Given the description of an element on the screen output the (x, y) to click on. 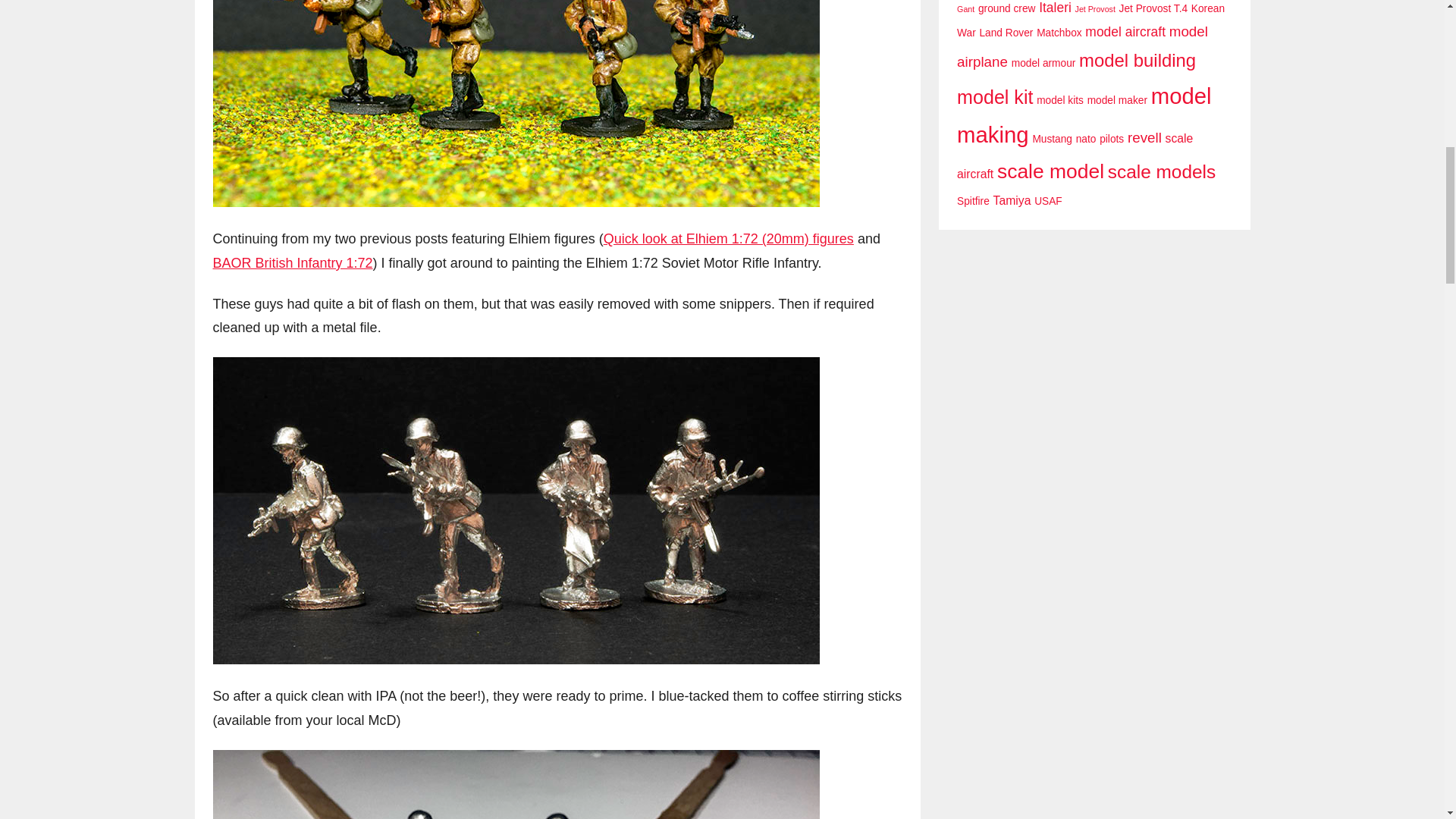
BAOR British Infantry 1:72 (292, 263)
